Given the description of an element on the screen output the (x, y) to click on. 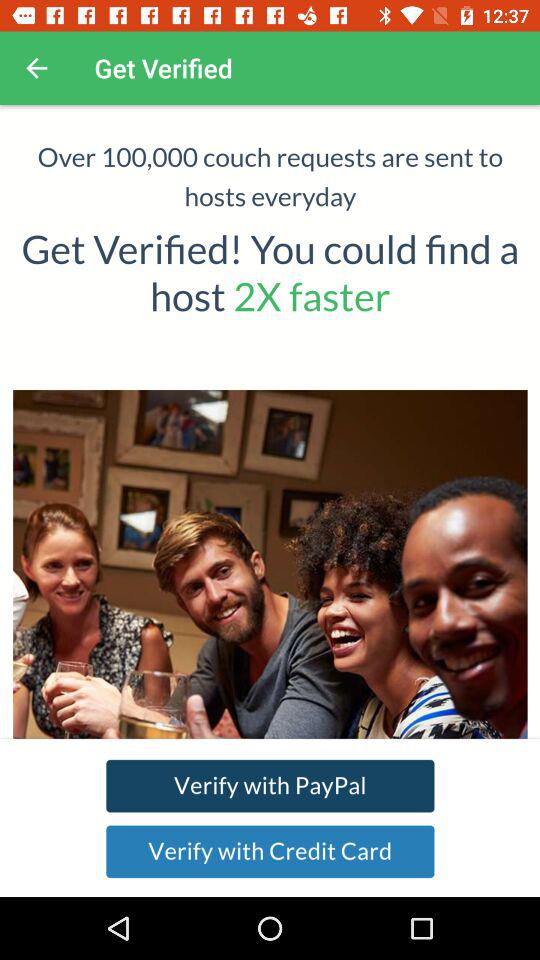
go back (36, 68)
